Given the description of an element on the screen output the (x, y) to click on. 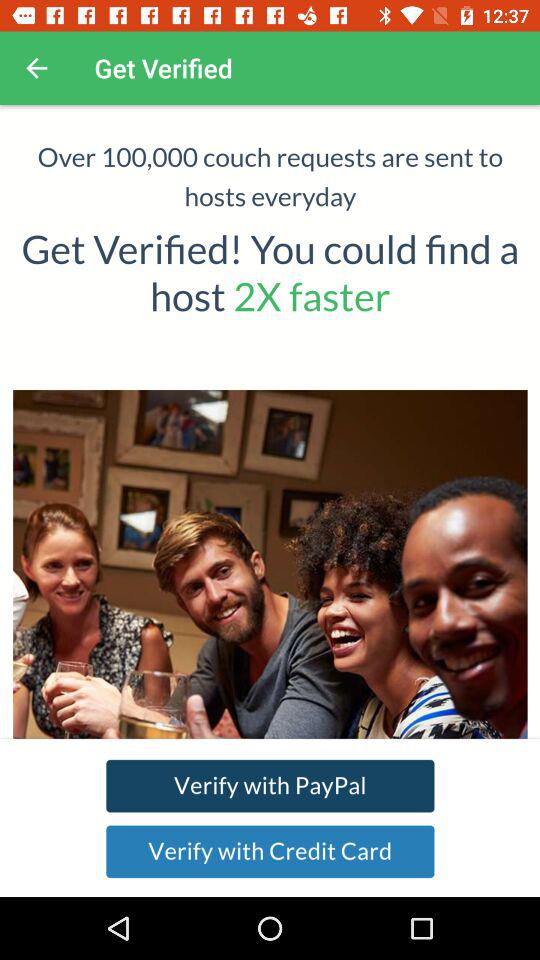
go back (36, 68)
